Given the description of an element on the screen output the (x, y) to click on. 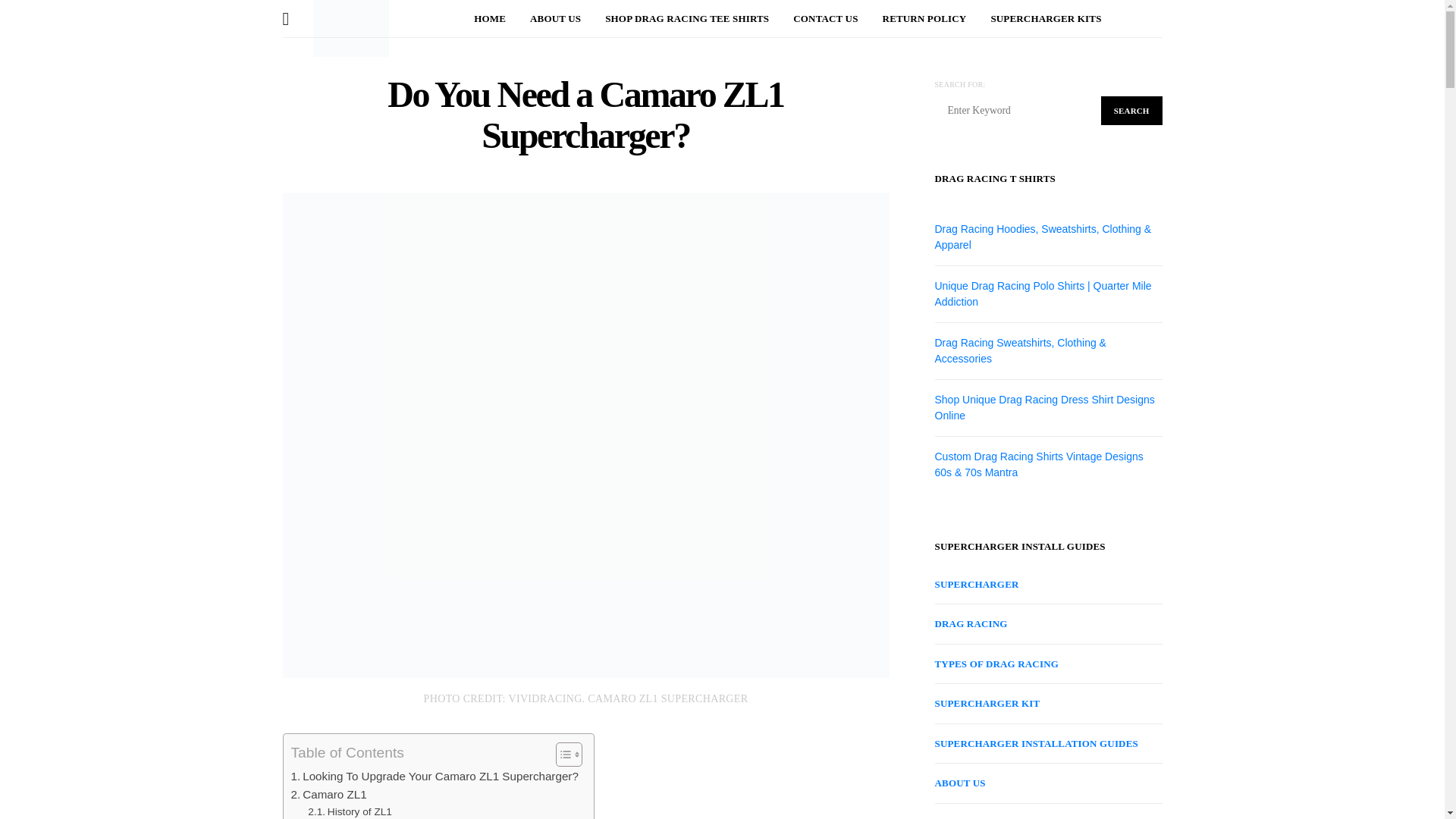
Looking To Upgrade Your Camaro ZL1 Supercharger? (434, 776)
History of ZL1 (349, 811)
Camaro ZL1 (328, 794)
